Given the description of an element on the screen output the (x, y) to click on. 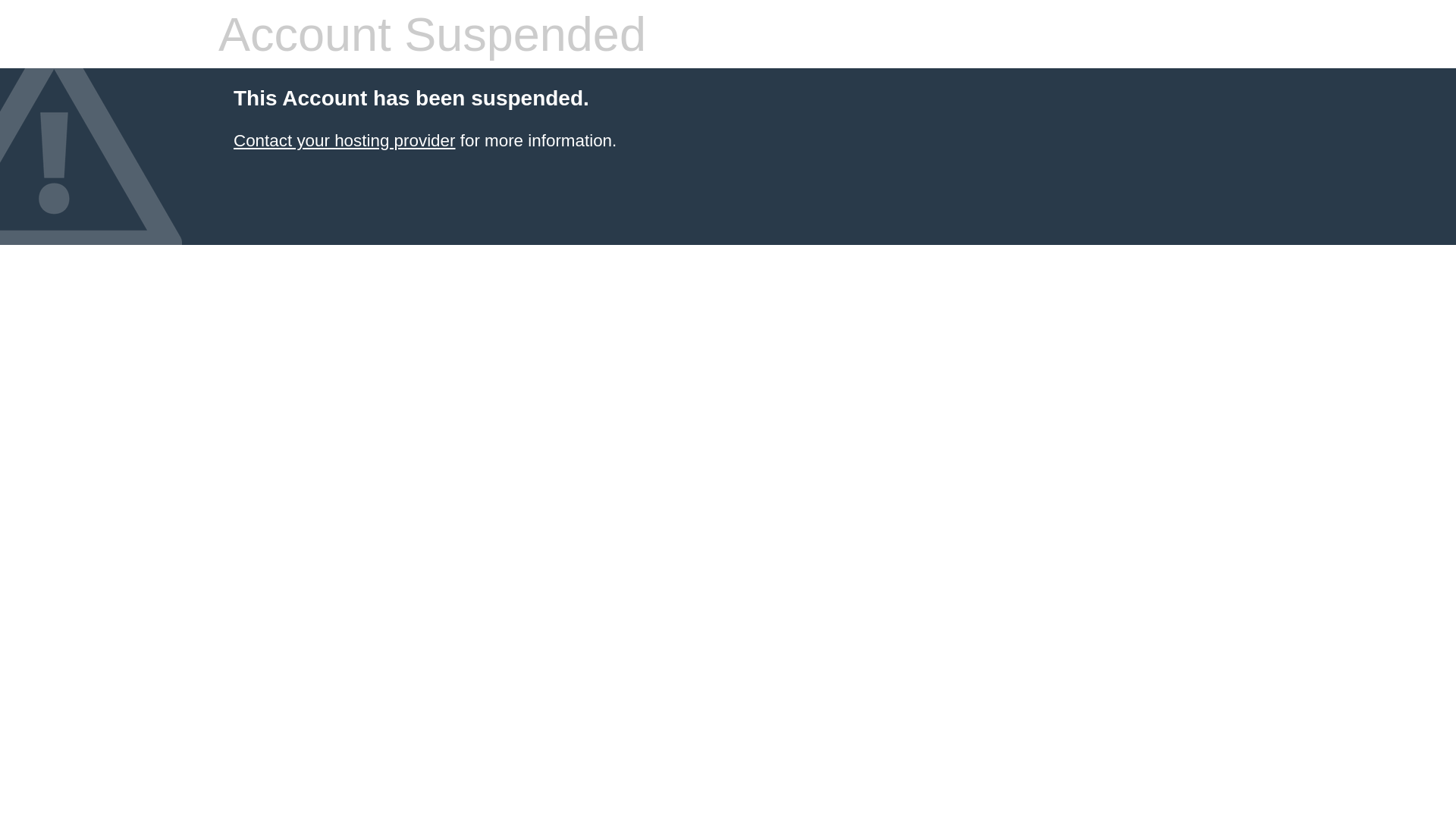
Contact your hosting provider Element type: text (344, 140)
